Given the description of an element on the screen output the (x, y) to click on. 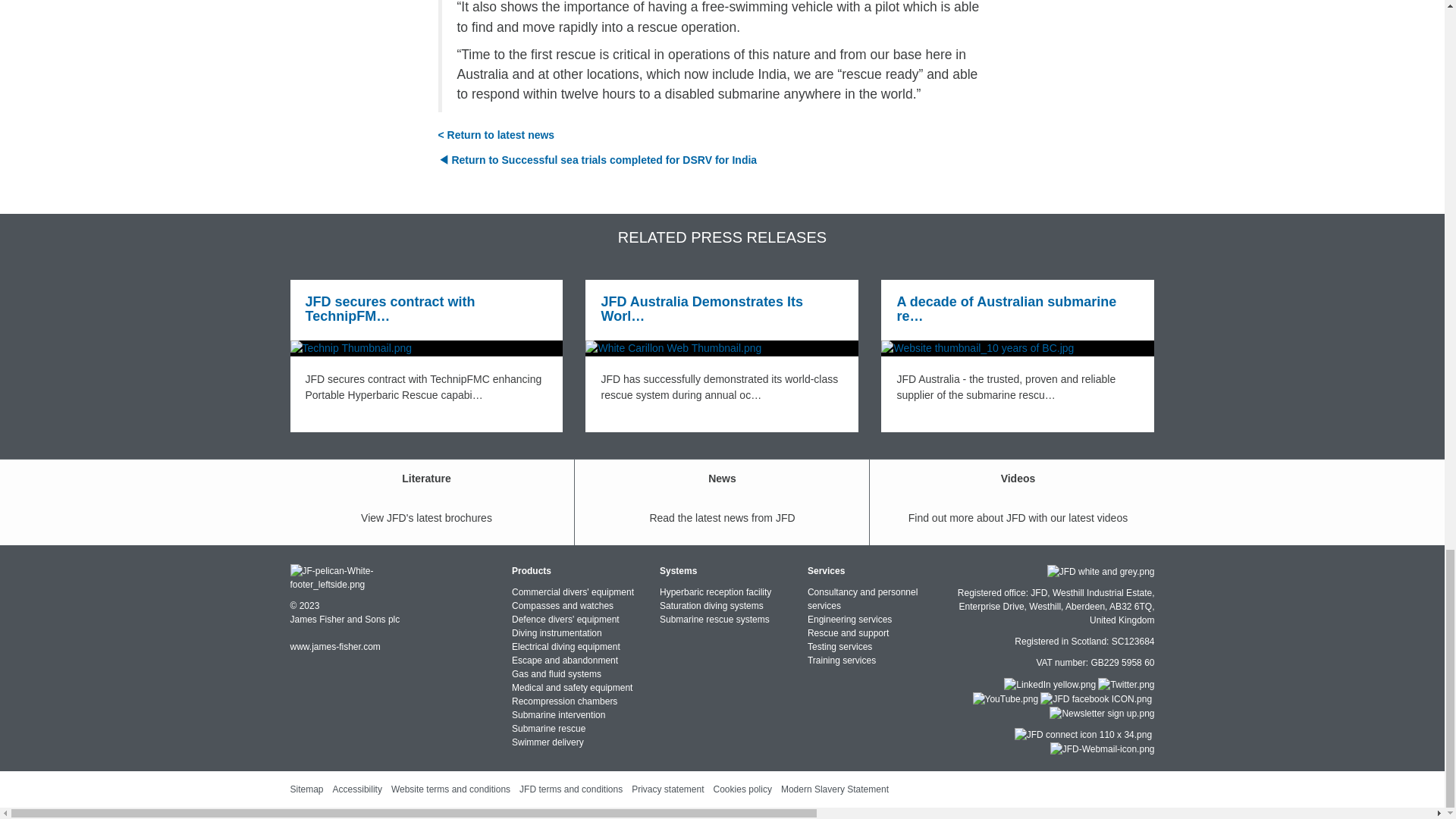
Systems (678, 570)
Gas and fluid systems (556, 674)
Electrical diving equipment (566, 646)
News and press releases (496, 134)
Submarine rescue systems (714, 619)
Saturation diving systems (710, 605)
Products (531, 570)
Escape and abandonment (564, 660)
Medical and safety equipment (571, 687)
Swimmer delivery (547, 742)
